Given the description of an element on the screen output the (x, y) to click on. 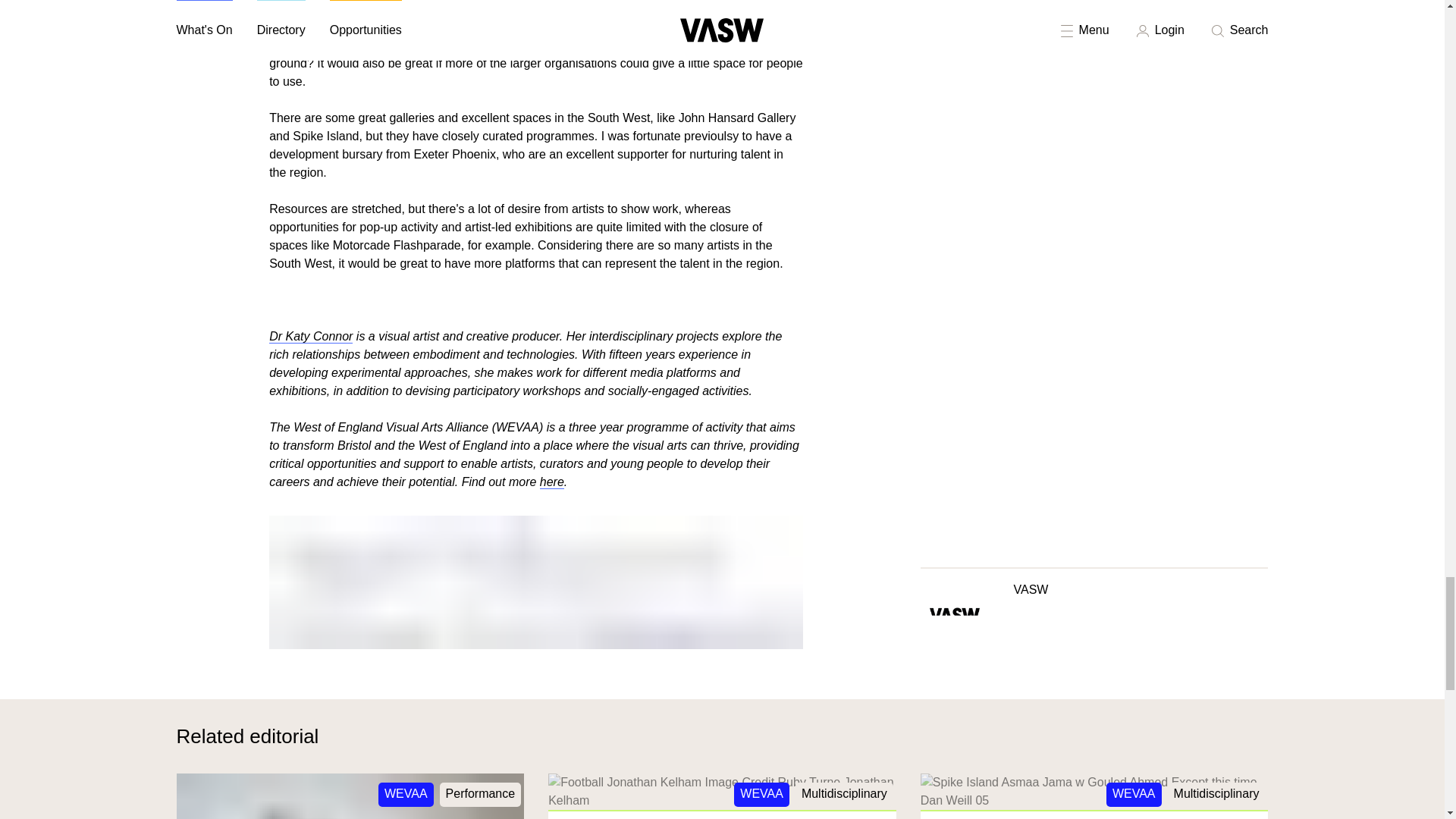
WEVAA (761, 794)
WEVAA (1133, 794)
WEVAA (405, 794)
here (552, 481)
Dr Katy Connor (310, 336)
